Given the description of an element on the screen output the (x, y) to click on. 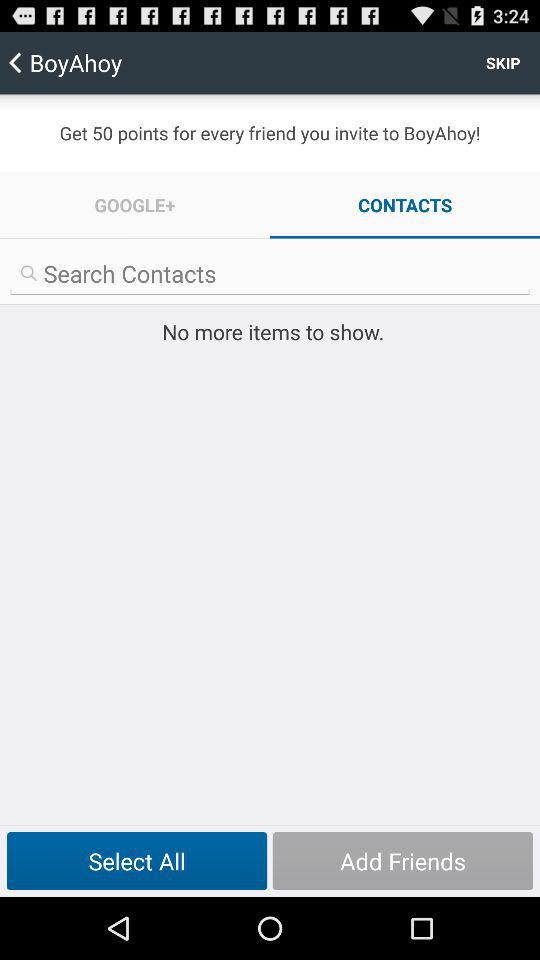
flip until the add friends button (402, 861)
